Given the description of an element on the screen output the (x, y) to click on. 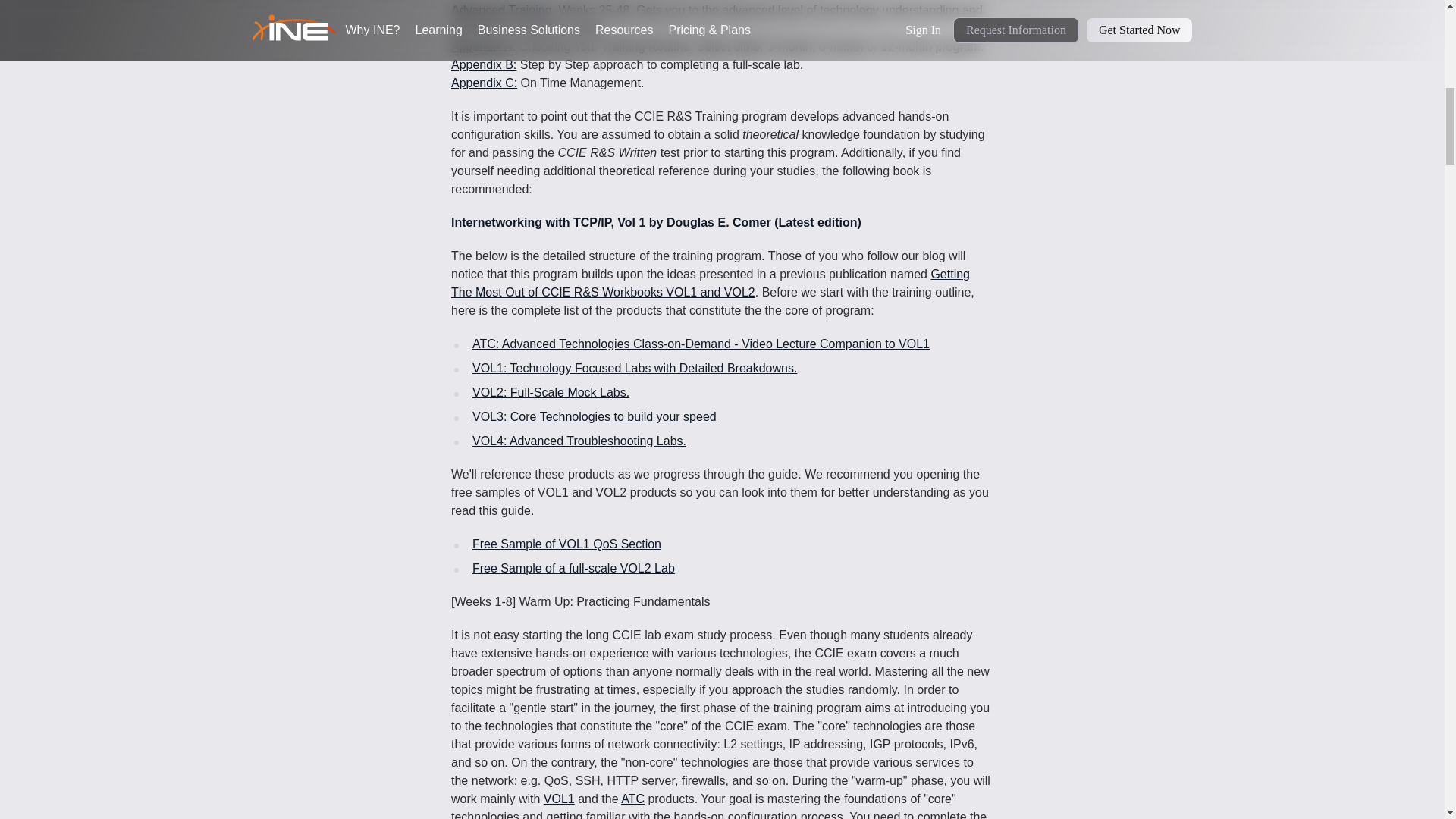
VOL1: Technology Focused Labs with Detailed Breakdowns. (633, 367)
Appendix C: (483, 82)
Appendix B: (483, 64)
VOL4: Advanced Troubleshooting Labs. (578, 440)
Advanced Training. (502, 10)
VOL2: Full-Scale Mock Labs. (549, 391)
Free Sample of VOL1 QoS Section (566, 543)
Appendix A: (483, 46)
Free Sample of a full-scale VOL2 Lab (573, 567)
VOL3: Core Technologies to build your speed (593, 416)
